Given the description of an element on the screen output the (x, y) to click on. 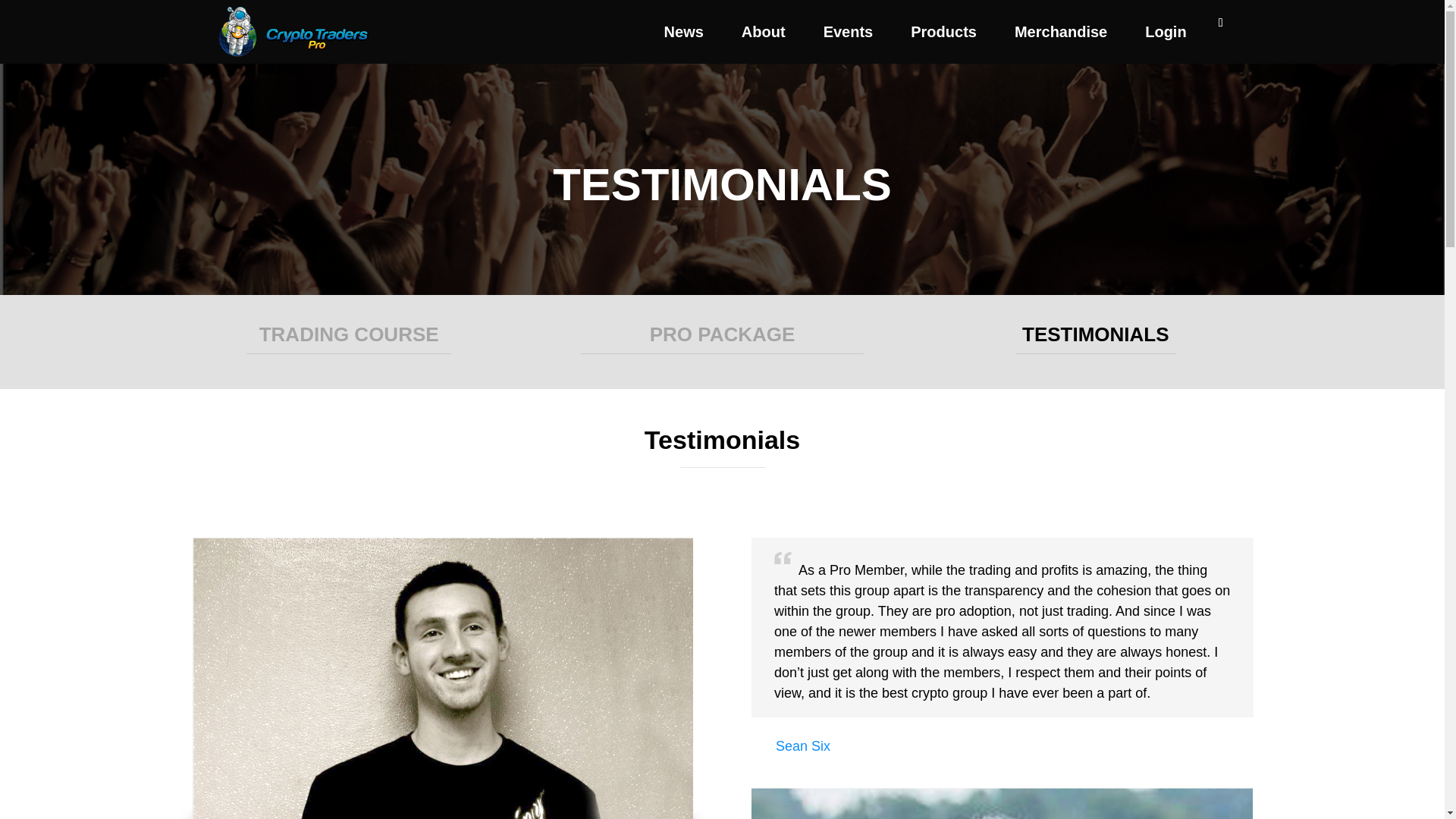
TESTIMONIALS (1095, 333)
Events (848, 31)
Merchandise (1060, 31)
News (684, 31)
Login (1165, 31)
About (763, 31)
TRADING COURSE (349, 333)
Products (943, 31)
PRO PACKAGE (721, 333)
